Given the description of an element on the screen output the (x, y) to click on. 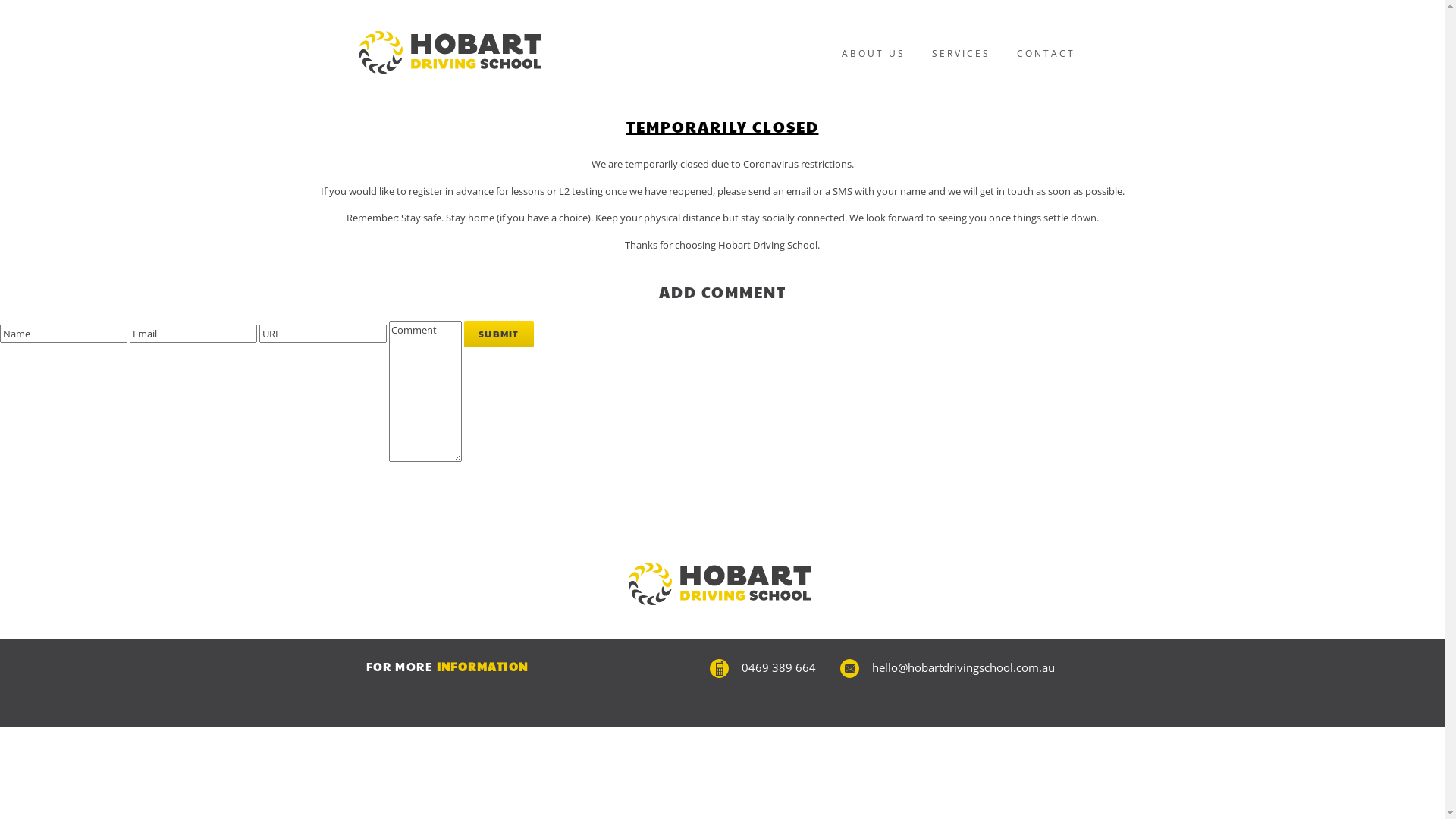
0469 389 664 Element type: text (778, 667)
hello@hobartdrivingschool.com.au Element type: text (963, 667)
Submit Element type: text (498, 333)
TEMPORARILY CLOSED Element type: text (722, 126)
CONTACT Element type: text (1044, 53)
SERVICES Element type: text (959, 53)
ABOUT US Element type: text (870, 53)
